Given the description of an element on the screen output the (x, y) to click on. 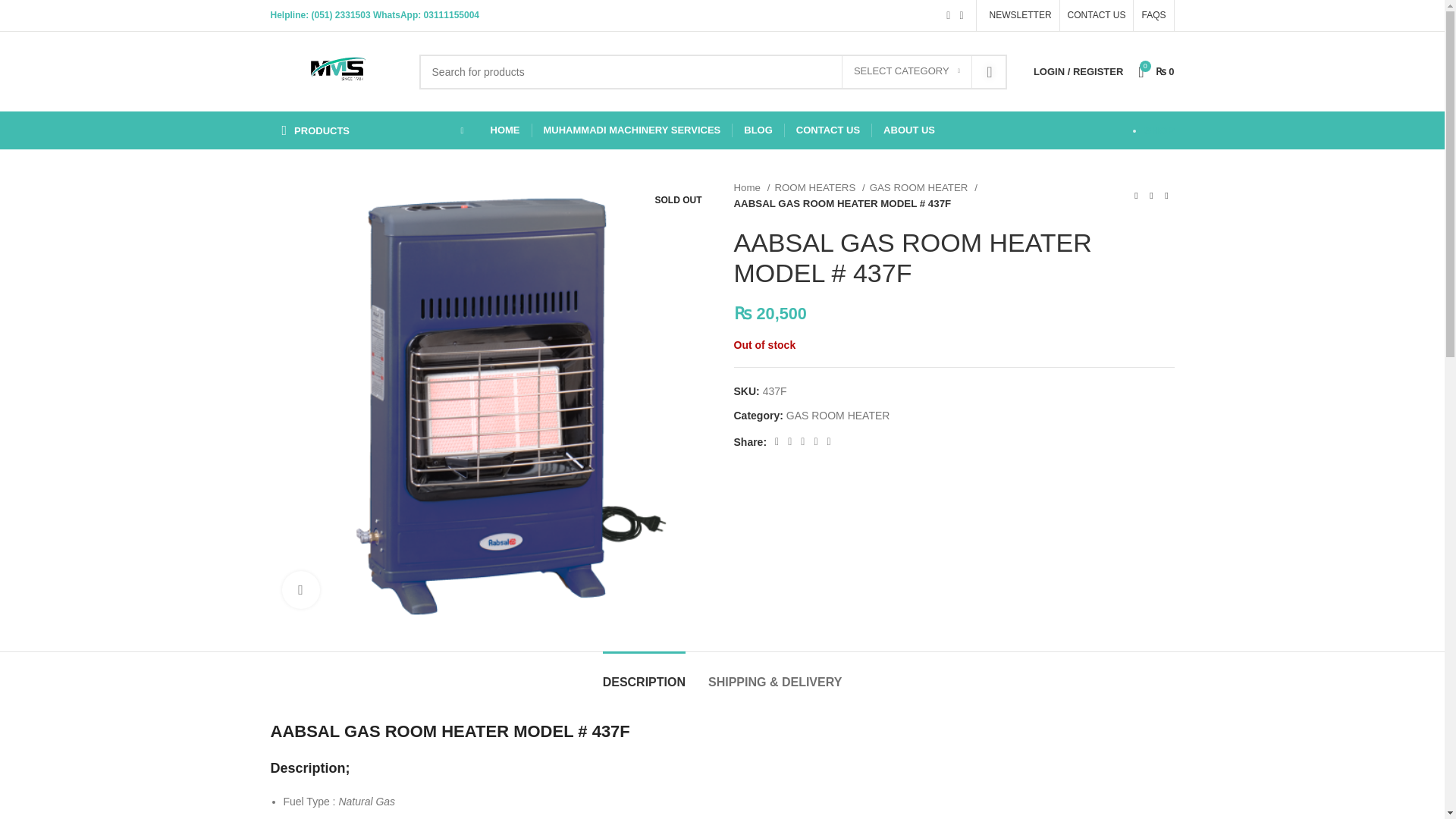
NEWSLETTER (1017, 15)
Search for products (713, 71)
SELECT CATEGORY (906, 71)
CONTACT US (1096, 15)
Shopping cart (1155, 71)
My account (1078, 71)
SELECT CATEGORY (906, 71)
03111155004 (451, 14)
